Given the description of an element on the screen output the (x, y) to click on. 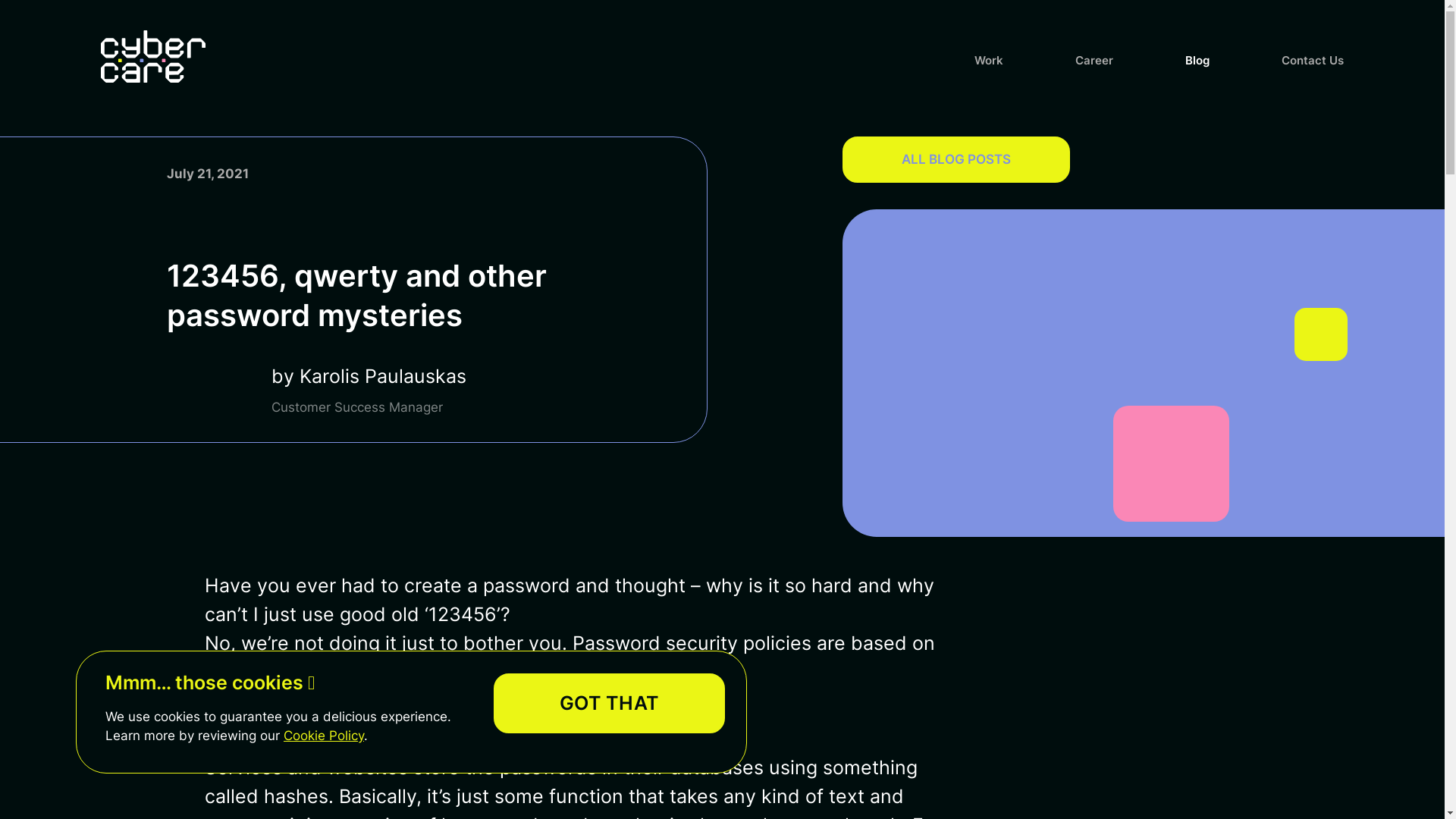
Blog Element type: text (1197, 60)
GOT THAT Element type: text (608, 703)
Career Element type: text (1094, 60)
Work Element type: text (988, 60)
Contact Us Element type: text (1312, 60)
ALL BLOG POSTS Element type: text (956, 159)
Cookie Policy Element type: text (323, 735)
